Given the description of an element on the screen output the (x, y) to click on. 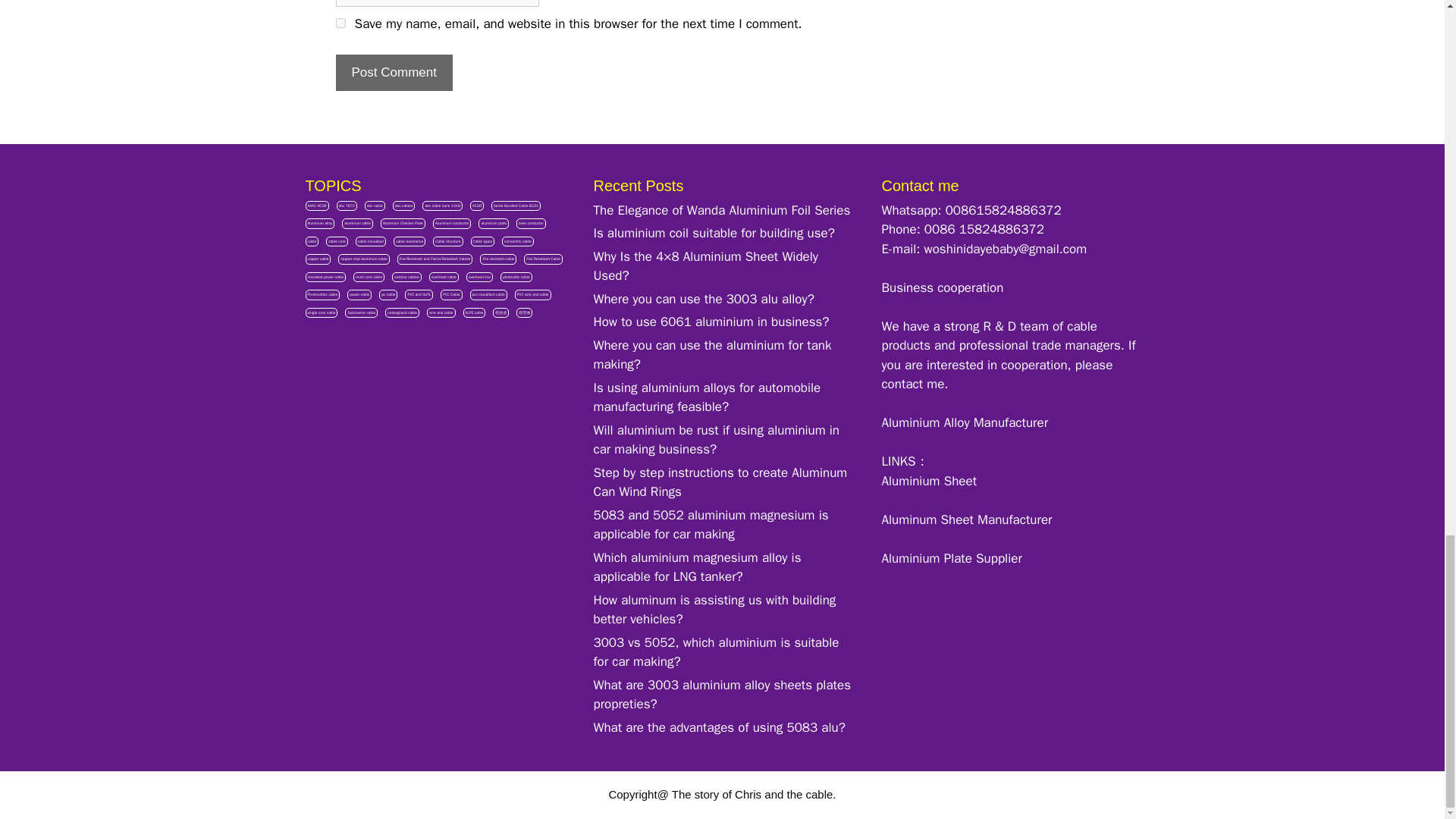
Post Comment (392, 72)
yes (339, 22)
ACSR (476, 205)
cable core (336, 241)
abc cable (375, 205)
abc cables (403, 205)
cable insualtion (370, 241)
Aerial Bundled Cable B231 (516, 205)
cable resistance (409, 241)
bare conductor (531, 223)
Post Comment (392, 72)
Aluminum Checker Plate (402, 223)
Aluminum conductor (451, 223)
abc cable sans 1418 (442, 205)
cable (311, 241)
